Given the description of an element on the screen output the (x, y) to click on. 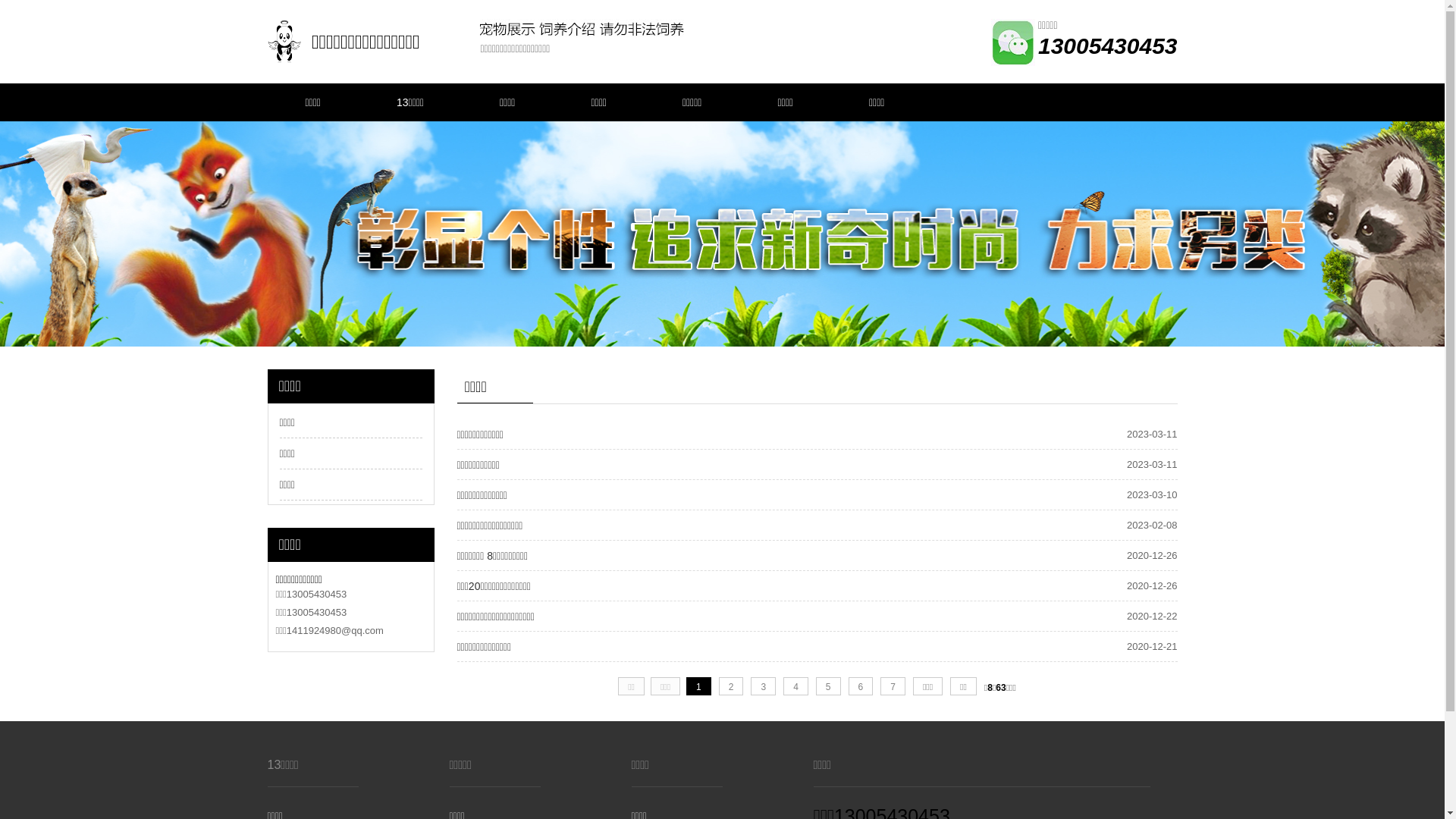
2 Element type: text (730, 686)
4 Element type: text (795, 686)
7 Element type: text (892, 686)
3 Element type: text (762, 686)
6 Element type: text (860, 686)
1 Element type: text (698, 686)
5 Element type: text (827, 686)
